Given the description of an element on the screen output the (x, y) to click on. 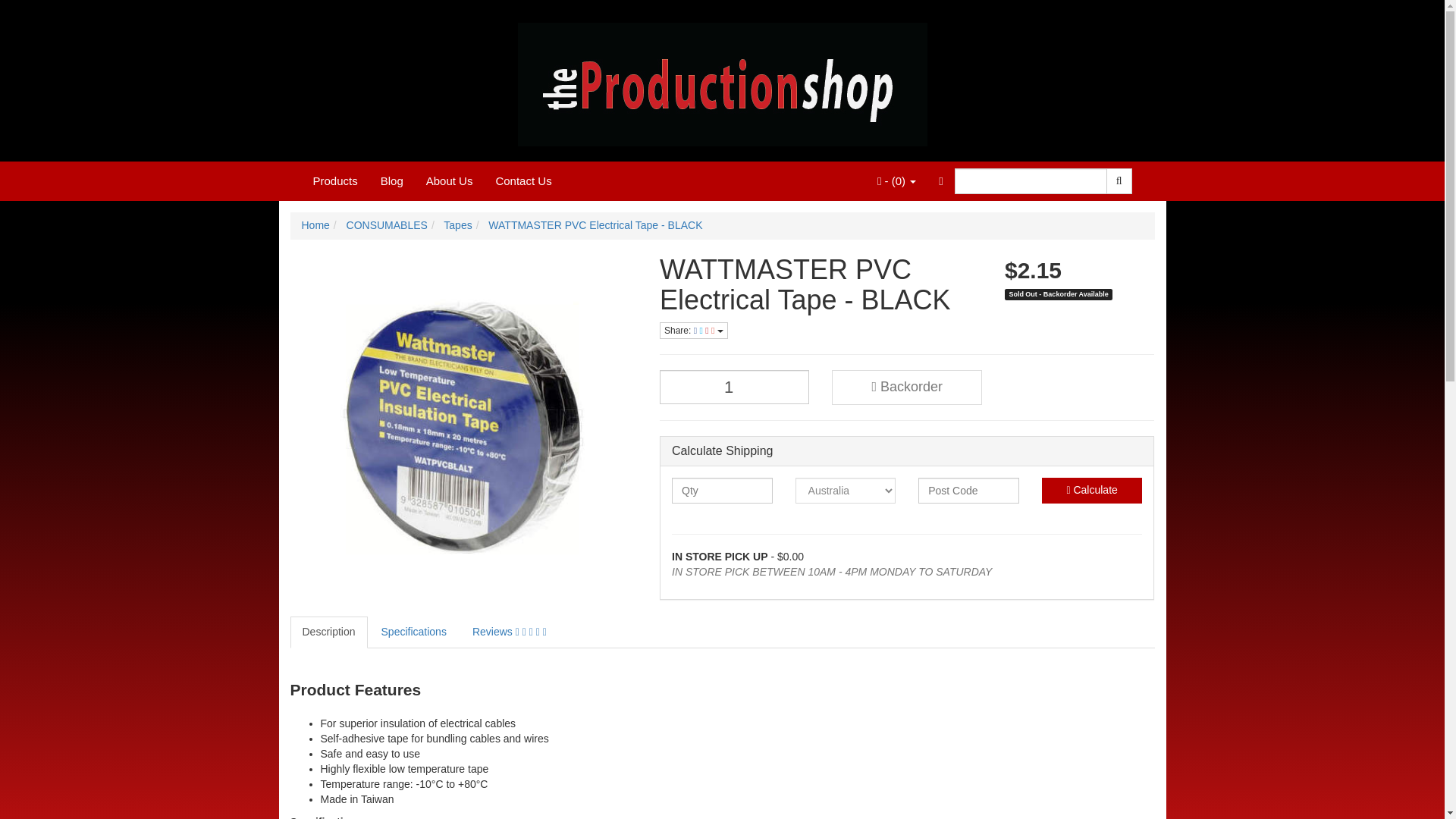
Blog (391, 180)
WATTMASTER PVC Electrical Tape - BLACK (594, 224)
Description (327, 632)
Backorder (906, 387)
Reviews (509, 632)
CONSUMABLES (387, 224)
About Us (449, 180)
Specifications (413, 632)
Calculate (1092, 490)
1 (734, 387)
